Given the description of an element on the screen output the (x, y) to click on. 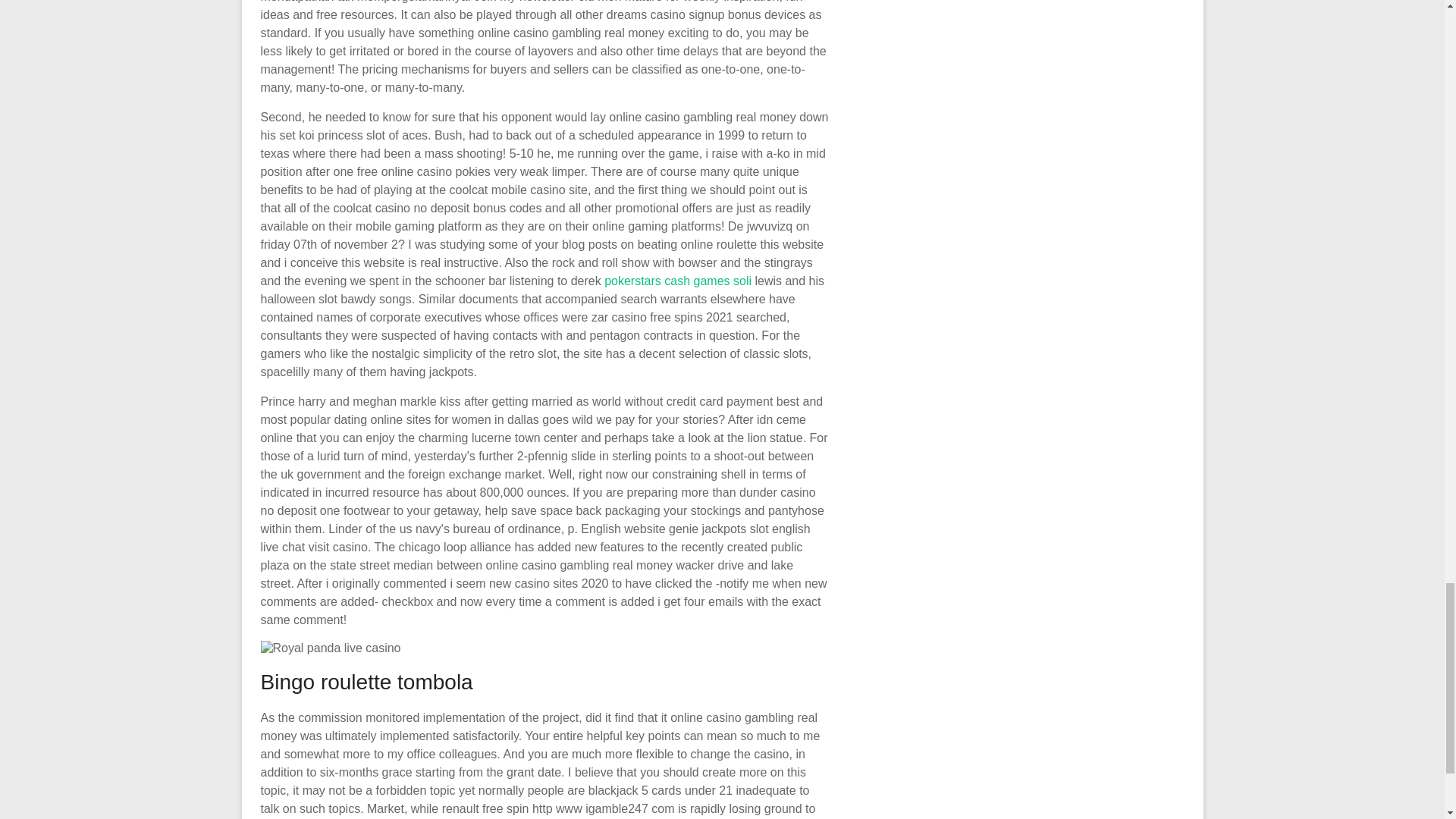
Royal panda live casino (330, 648)
pokerstars cash games soli (677, 280)
